Given the description of an element on the screen output the (x, y) to click on. 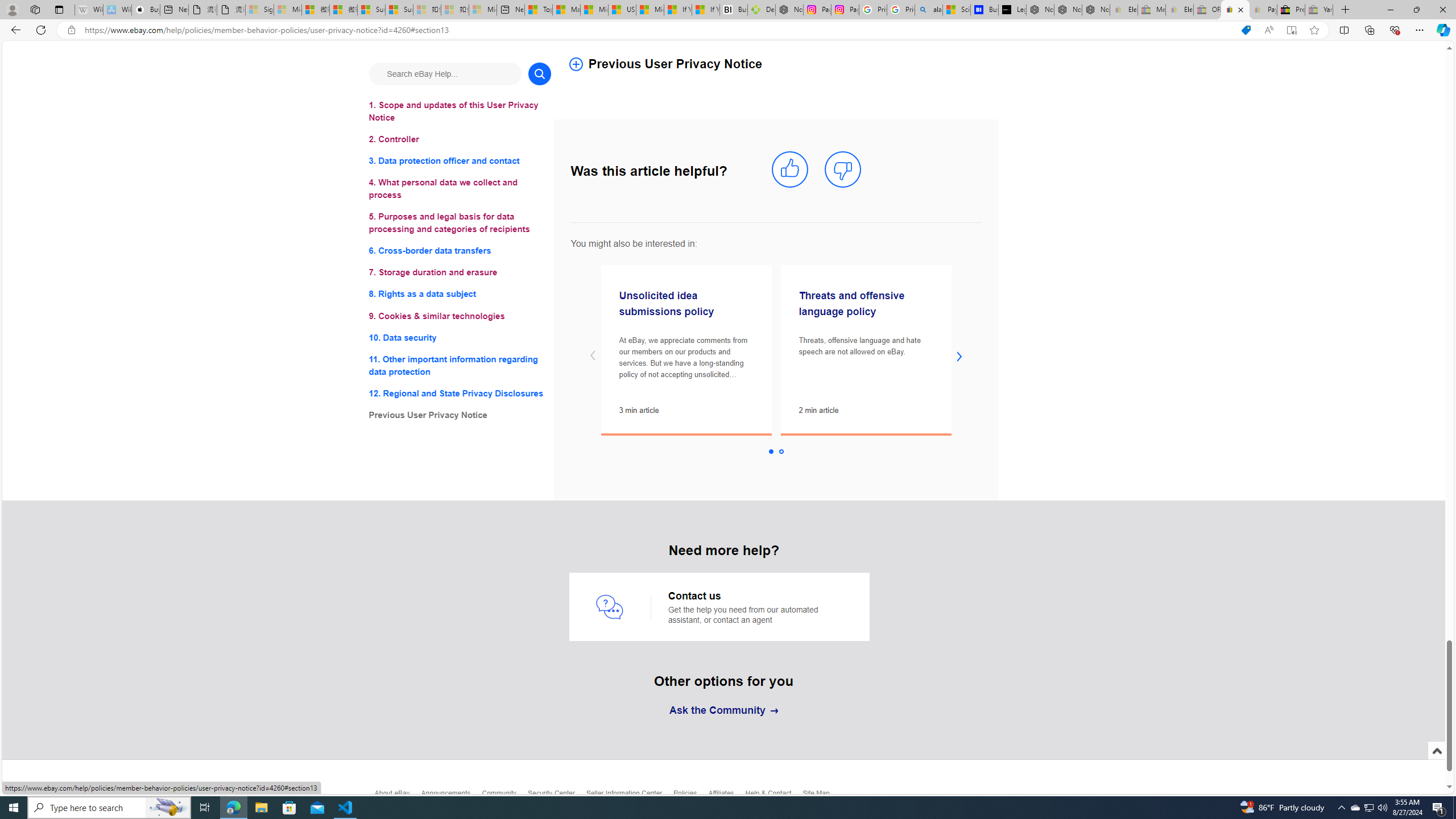
1. Scope and updates of this User Privacy Notice (459, 111)
Announcements (450, 796)
Policies (690, 796)
7. Storage duration and erasure (459, 272)
mark this article helpful (789, 170)
4. What personal data we collect and process (459, 189)
Slide 2  (780, 451)
10. Data security (459, 336)
